Given the description of an element on the screen output the (x, y) to click on. 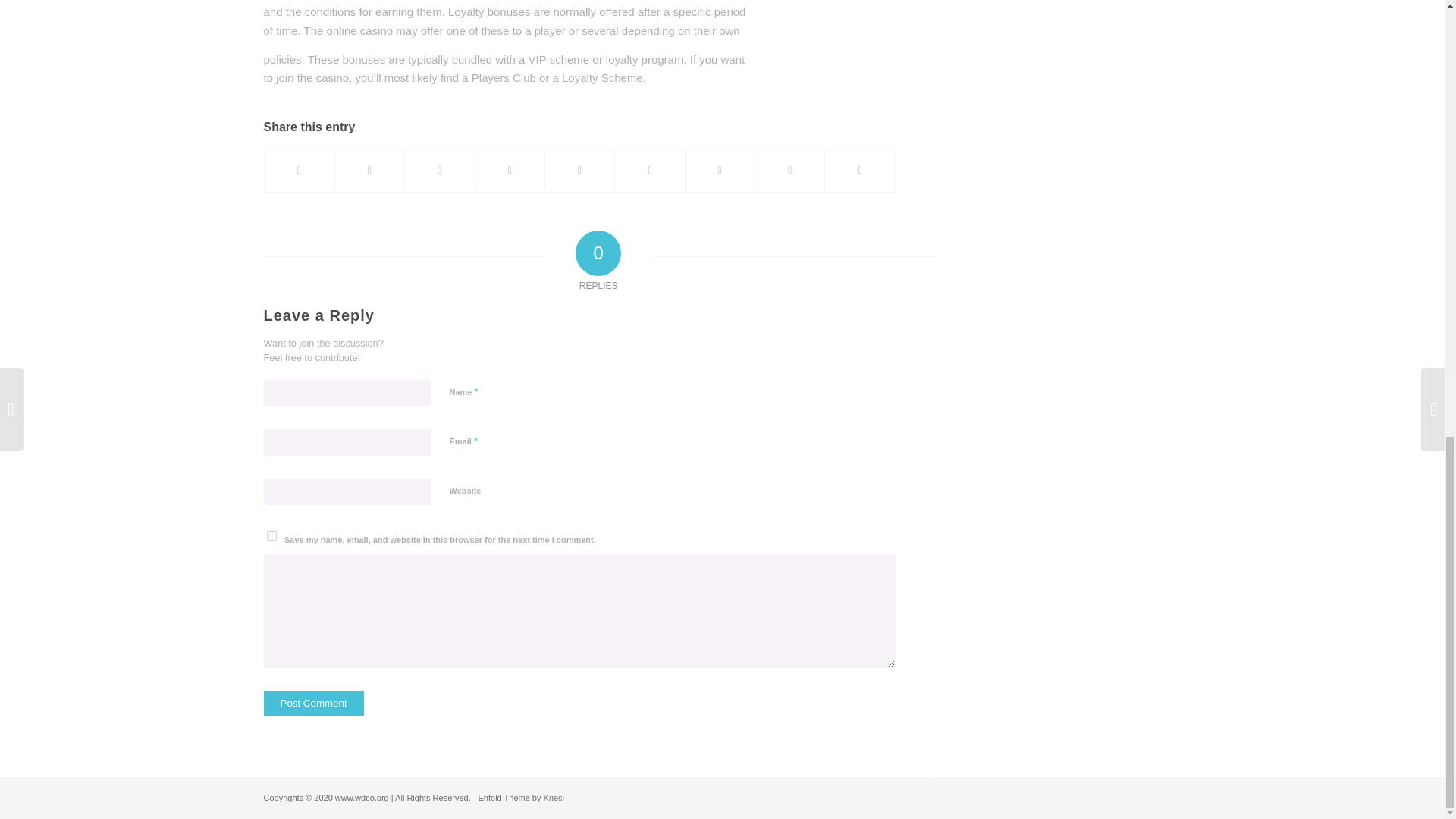
Post Comment (313, 703)
yes (271, 535)
Post Comment (313, 703)
